Given the description of an element on the screen output the (x, y) to click on. 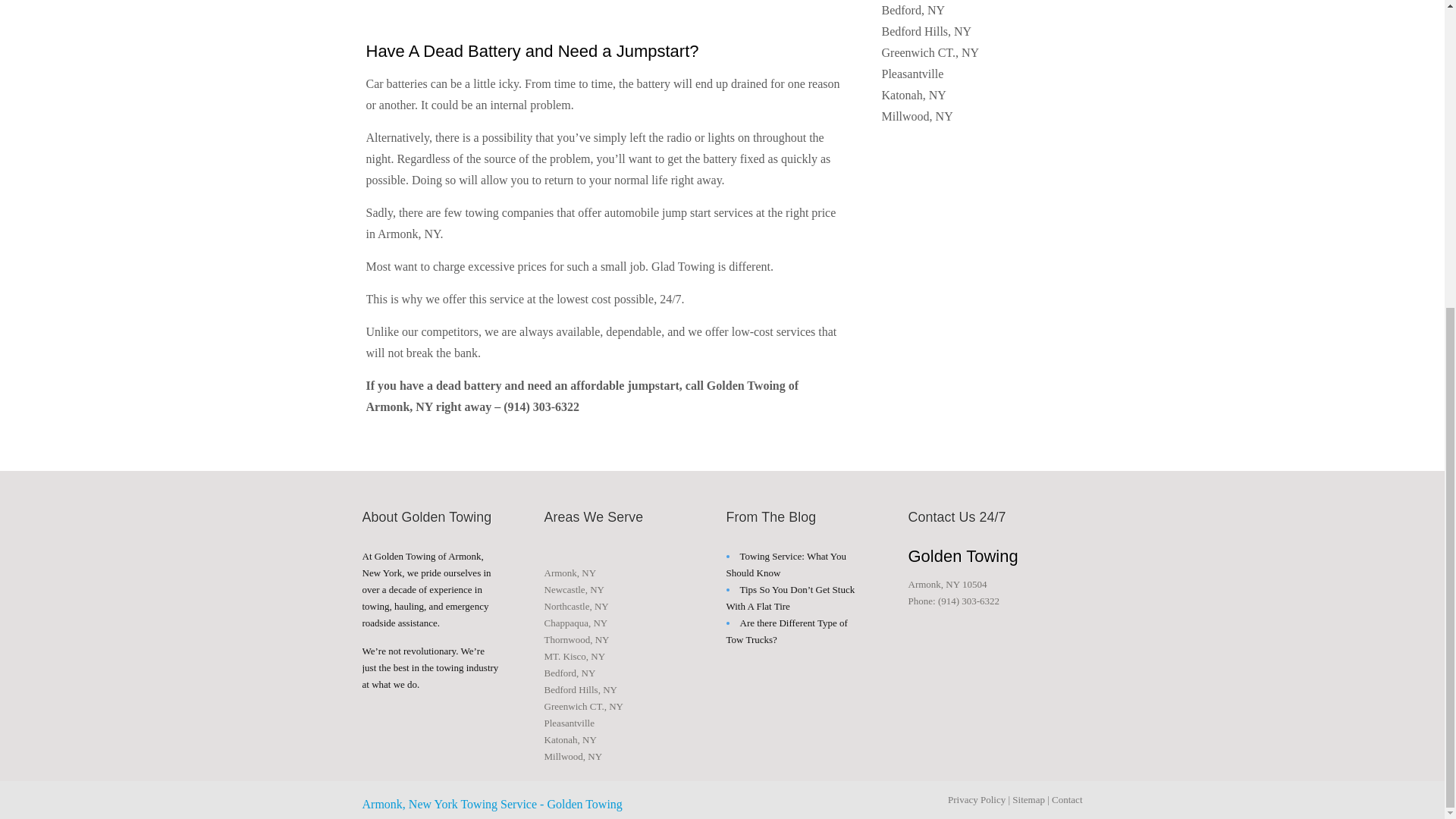
Sitemap (1028, 799)
Privacy Policy (976, 799)
Are there Different Type of Tow Trucks? (786, 631)
Towing Service: What You Should Know (785, 564)
Armonk, New York Towing Service - Golden Towing (492, 803)
Contact (1066, 799)
